Given the description of an element on the screen output the (x, y) to click on. 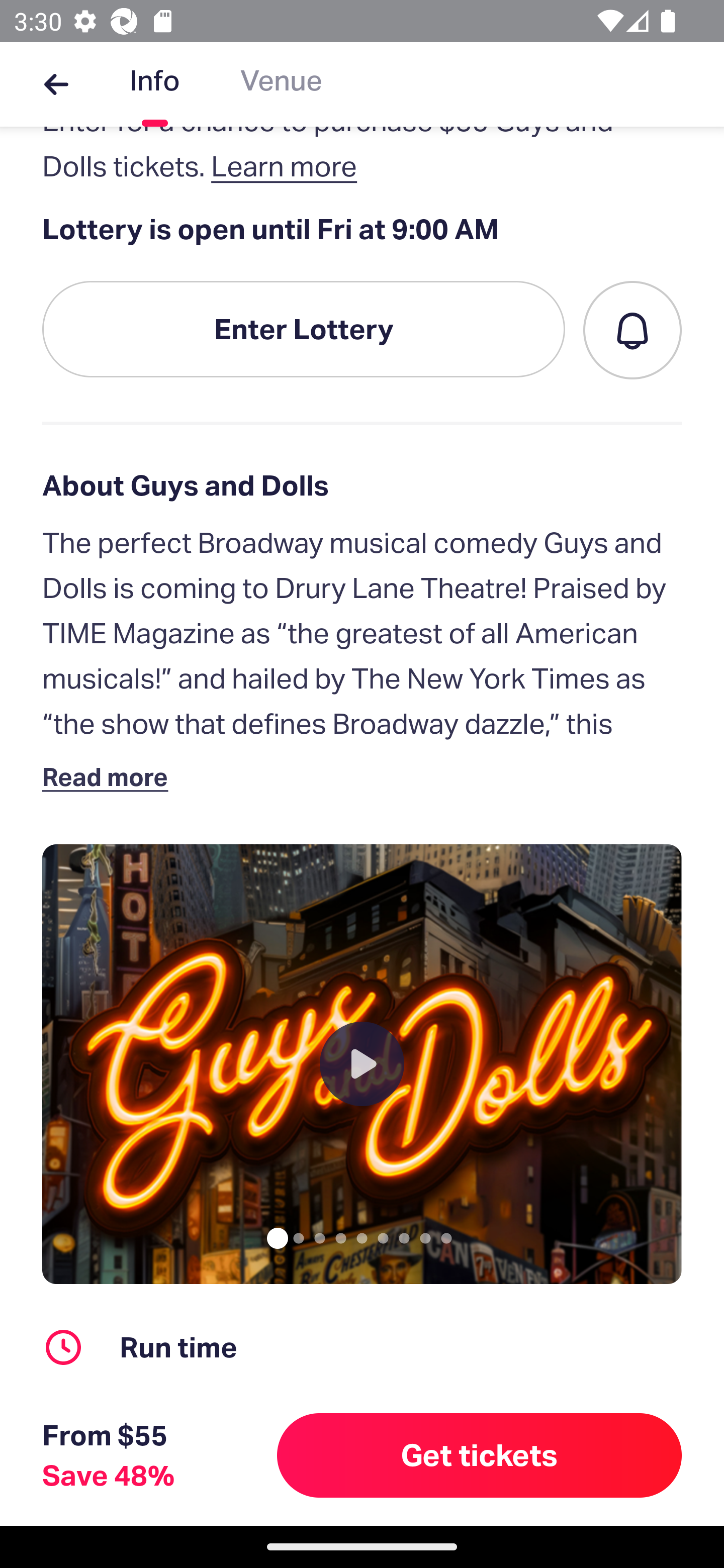
Venue (280, 84)
Enter Lottery (303, 328)
About Guys and Dolls (361, 485)
Read more (109, 776)
Get tickets (479, 1454)
